Given the description of an element on the screen output the (x, y) to click on. 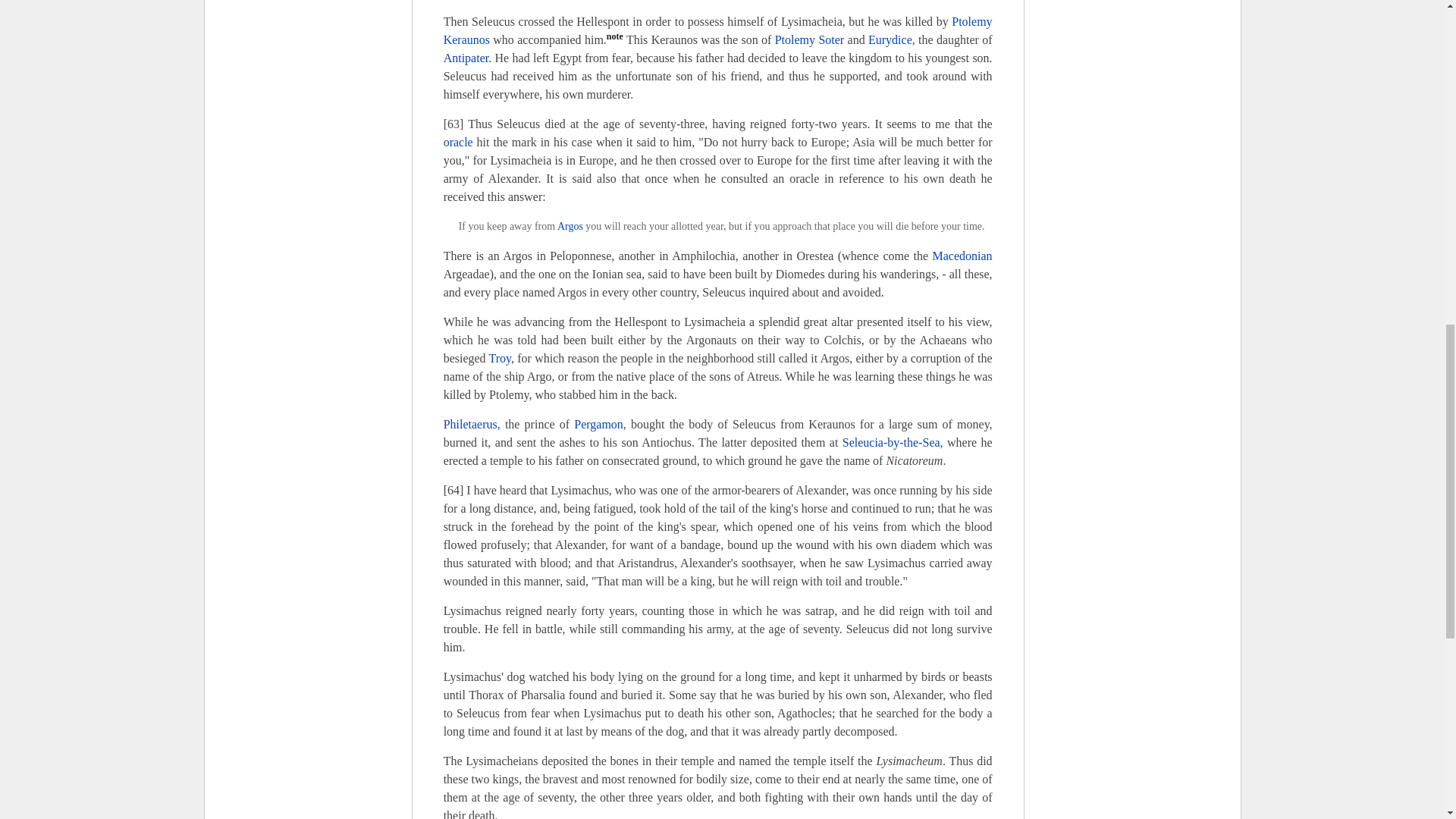
Ptolemy Soter (809, 39)
Macedonian (962, 255)
oracle (458, 141)
Seleucia-by-the-Sea (891, 441)
Ptolemy Keraunos (718, 30)
Philetaerus (470, 423)
Eurydice (889, 39)
Argos (570, 225)
Troy (500, 358)
Antipater (466, 57)
